Given the description of an element on the screen output the (x, y) to click on. 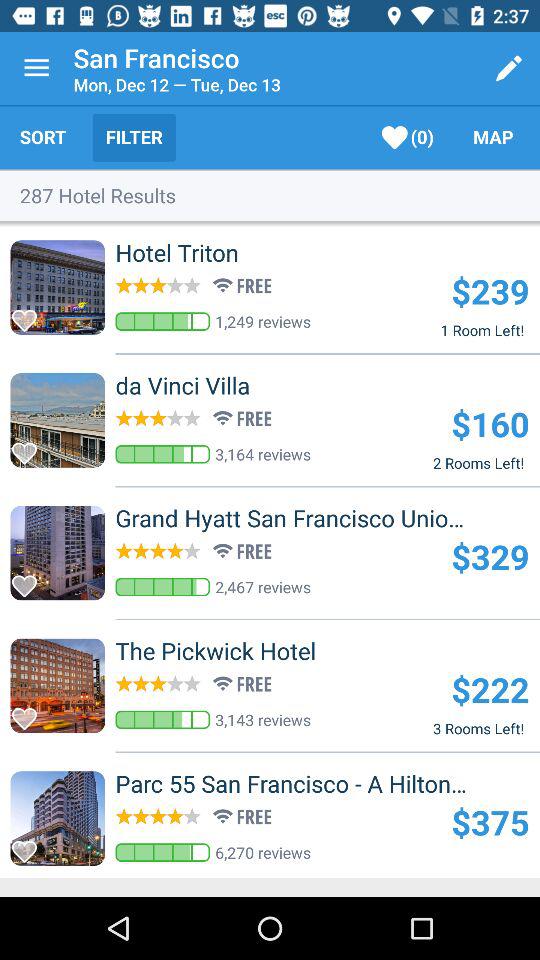
add to favorite (30, 447)
